Given the description of an element on the screen output the (x, y) to click on. 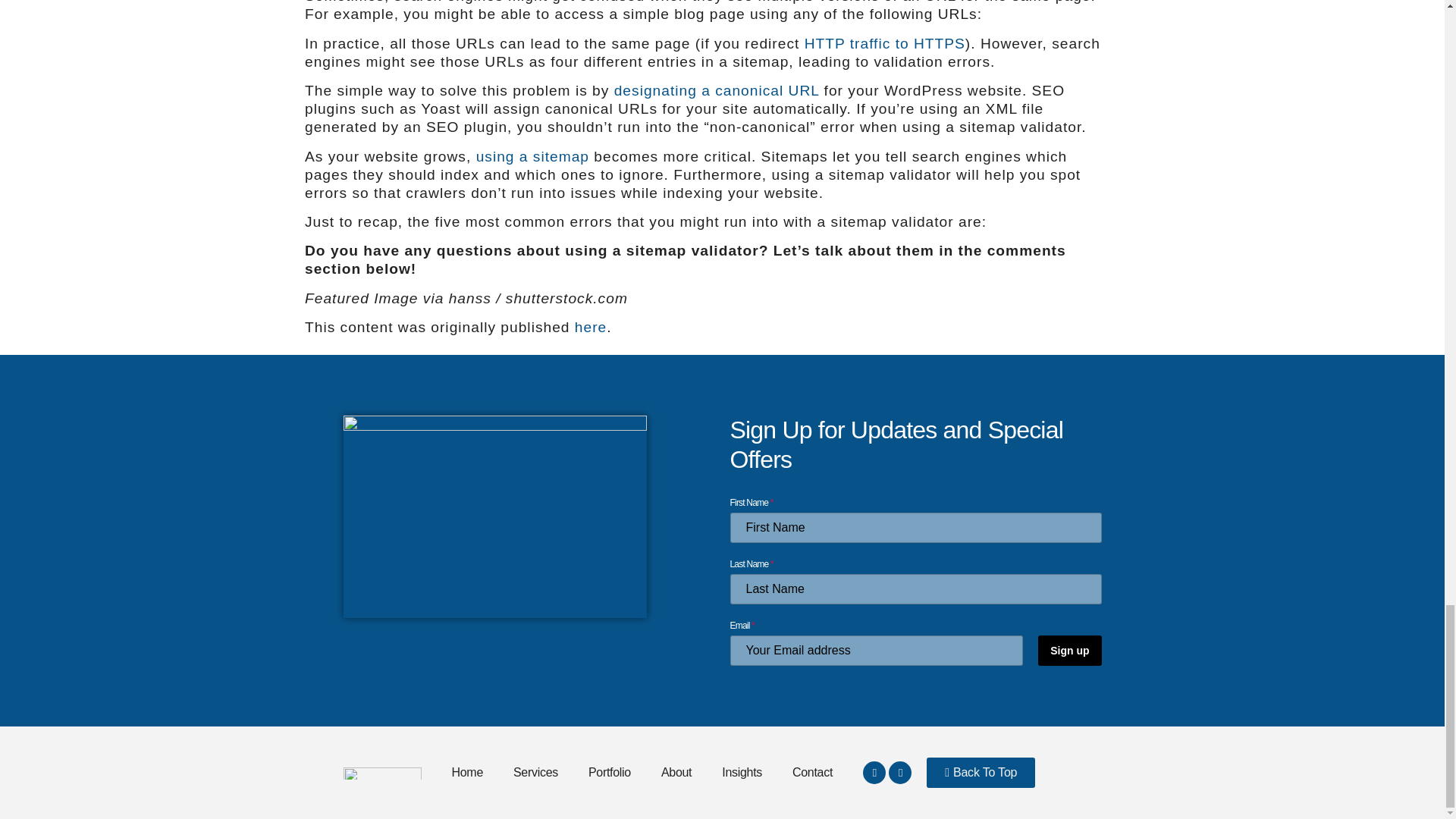
using a sitemap (532, 156)
Home (466, 772)
Portfolio (609, 772)
designating a canonical URL (716, 90)
Services (535, 772)
About (676, 772)
here (591, 326)
HTTP traffic to HTTPS (885, 43)
Sign up (1069, 650)
